Given the description of an element on the screen output the (x, y) to click on. 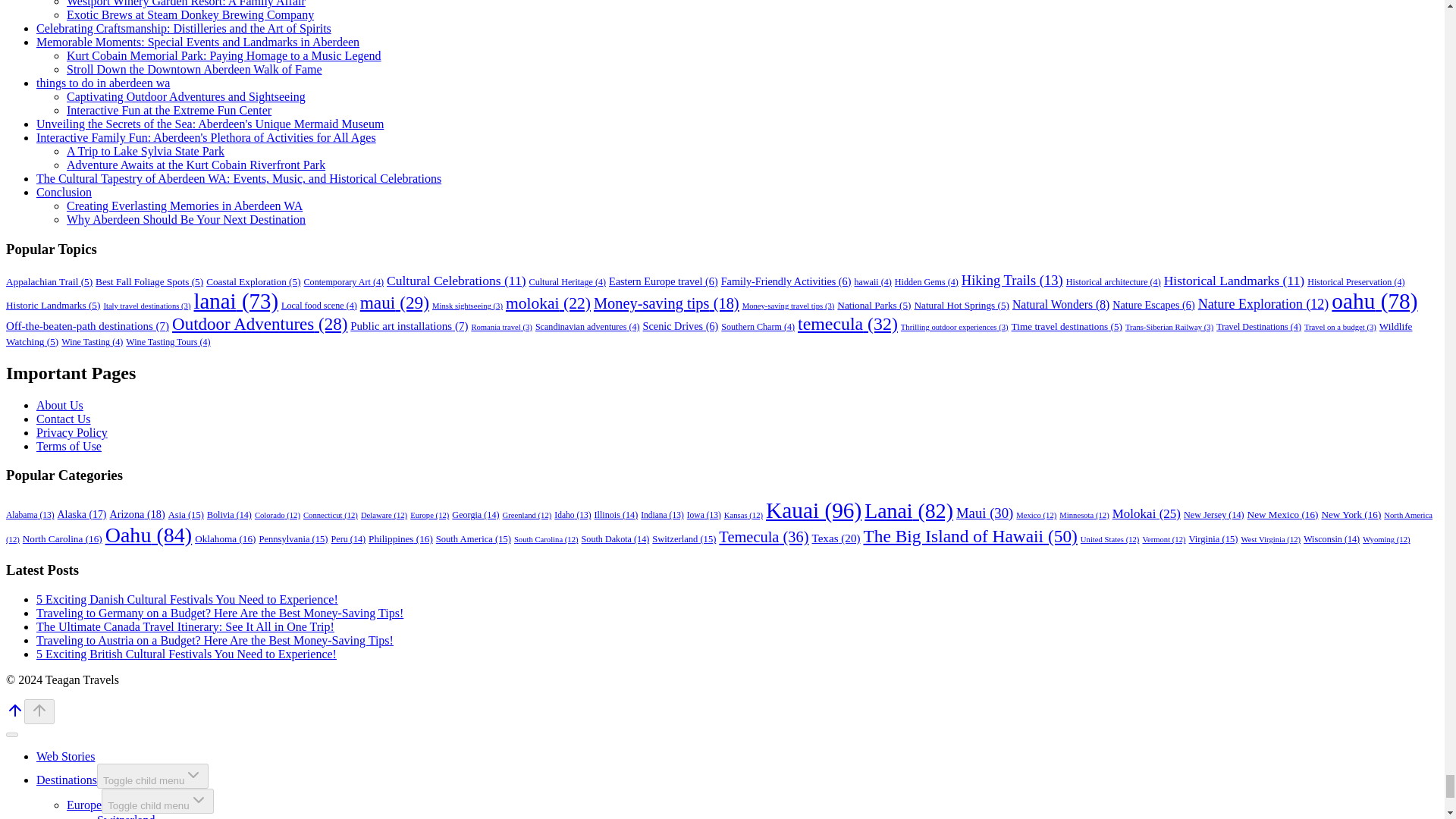
Expand (193, 774)
Scroll to top (14, 715)
Scroll to top (39, 711)
Scroll to top (14, 710)
Scroll to top (39, 710)
Expand (198, 800)
